Given the description of an element on the screen output the (x, y) to click on. 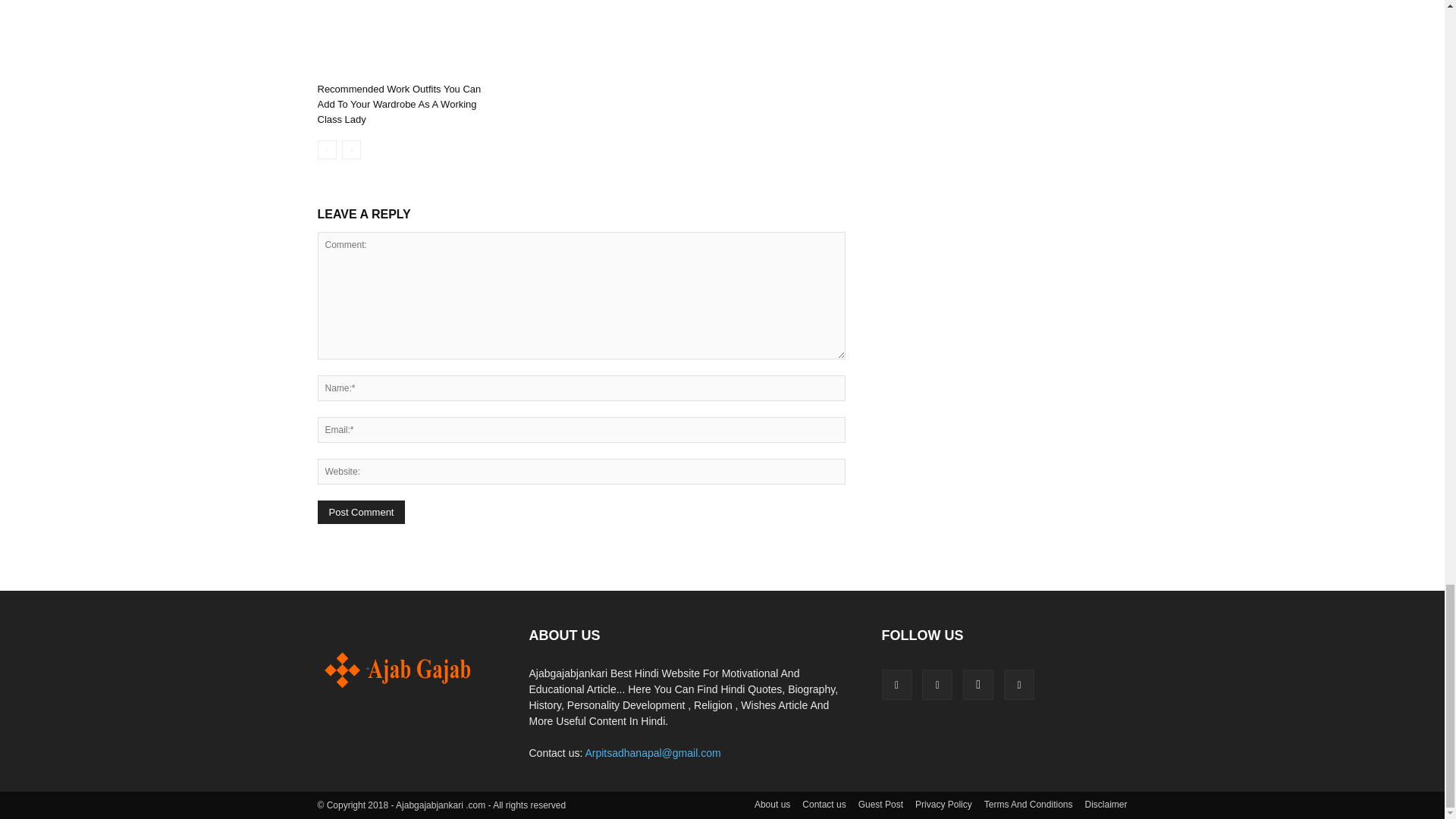
Facebook (895, 684)
Twitter (1018, 684)
Instagram (977, 684)
Post Comment (360, 512)
